Given the description of an element on the screen output the (x, y) to click on. 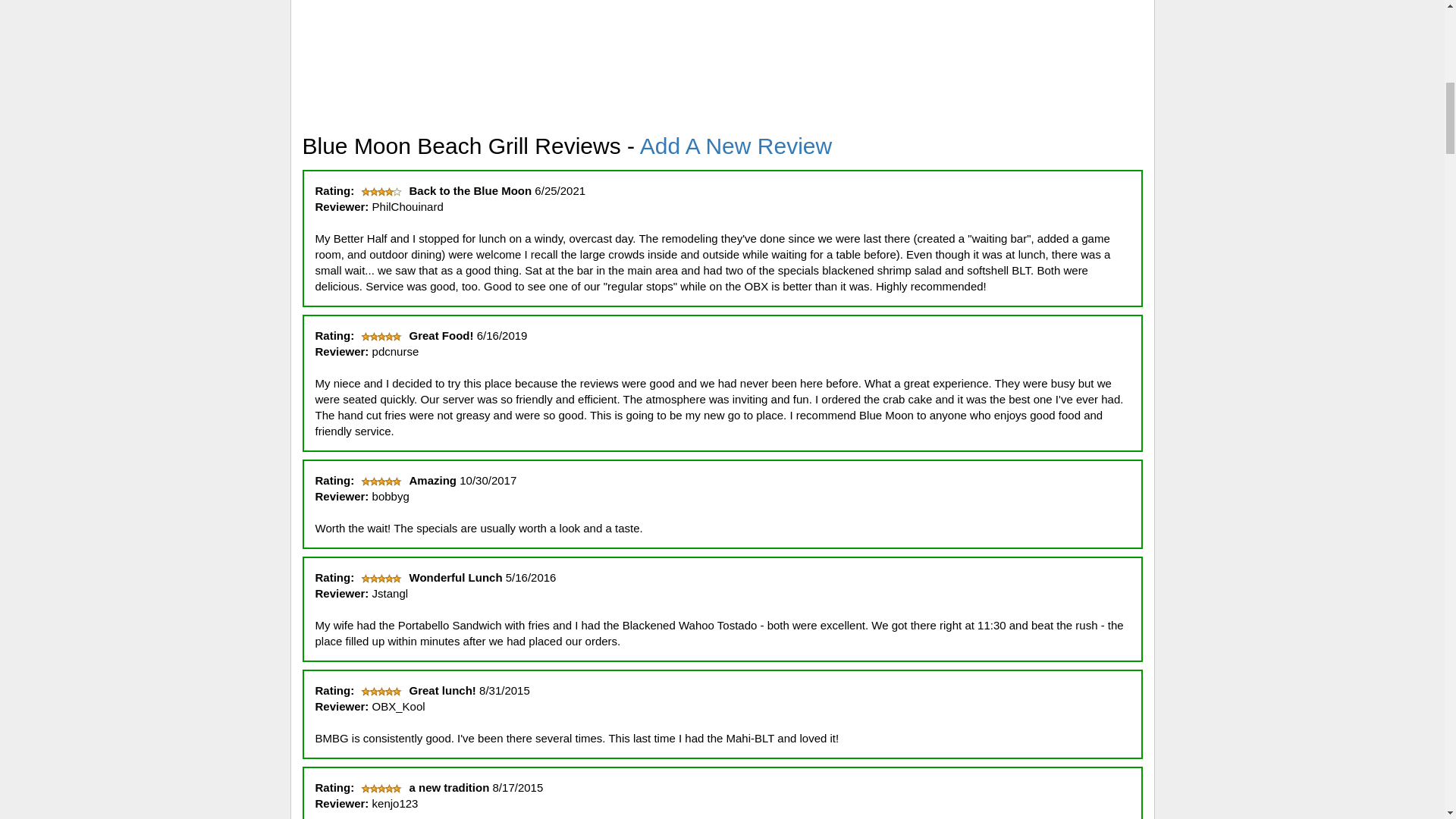
Add A New Review (735, 145)
